Given the description of an element on the screen output the (x, y) to click on. 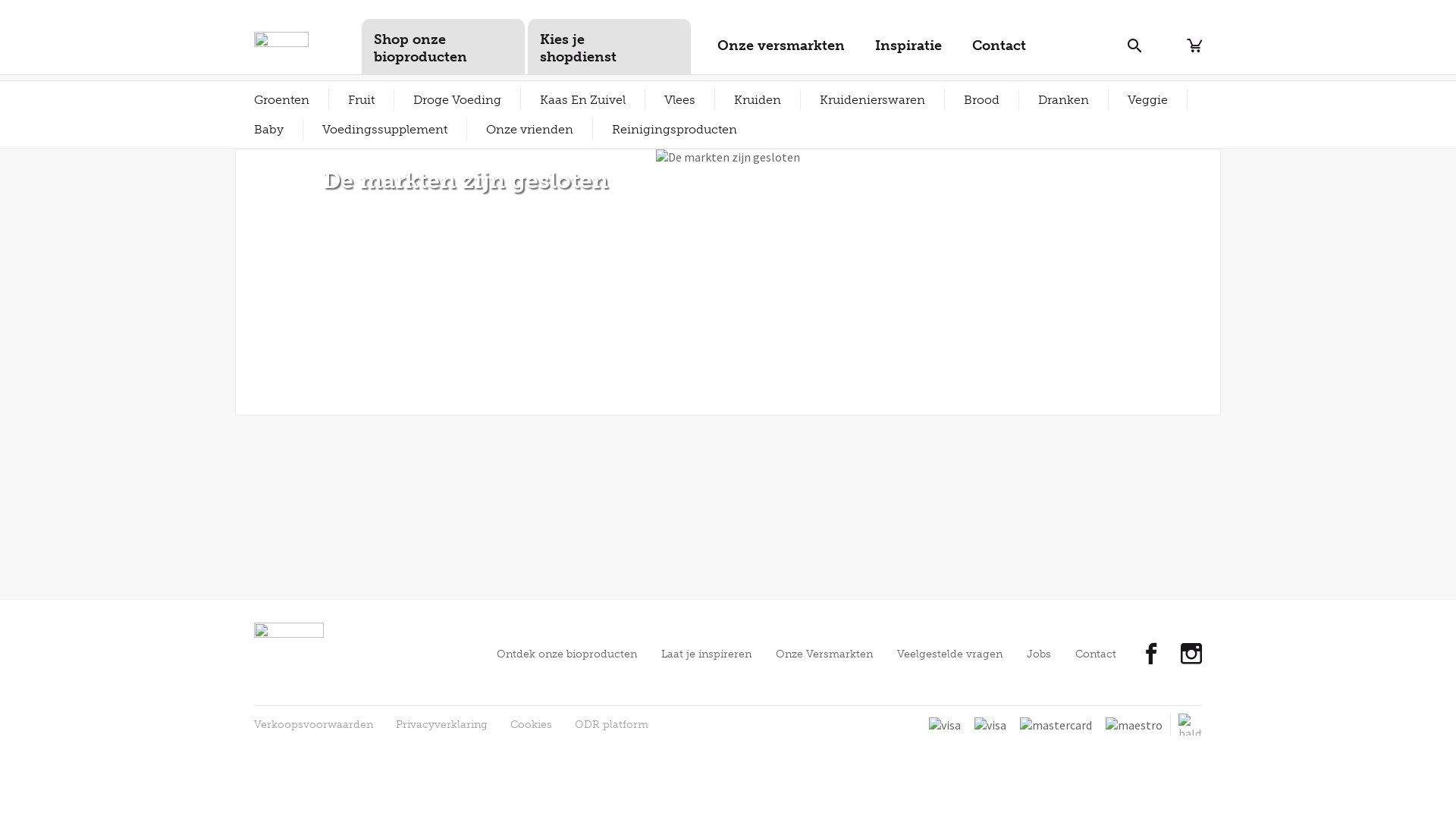
Onze vrienden Element type: text (529, 129)
Instagram Element type: hover (1190, 656)
Baby Element type: text (268, 129)
Onze Versmarkten Element type: text (823, 653)
Facebook Element type: hover (1150, 656)
Ontdek onze bioproducten Element type: text (566, 653)
Contact Element type: text (1095, 653)
Contact Element type: text (999, 51)
Kies je shopdienst Element type: text (608, 46)
Verkoopsvoorwaarden Element type: text (313, 724)
Groenten Element type: text (281, 99)
Kruidenierswaren Element type: text (872, 99)
Brood Element type: text (981, 99)
Droge Voeding Element type: text (457, 99)
Onze versmarkten Element type: text (780, 51)
Vlees Element type: text (679, 99)
baldwin Element type: hover (1189, 724)
Veggie Element type: text (1147, 99)
Veelgestelde vragen Element type: text (949, 653)
Laat je inspireren Element type: text (706, 653)
Dranken Element type: text (1063, 99)
Reinigingsproducten Element type: text (674, 129)
Privacyverklaring Element type: text (441, 724)
Cookies Element type: text (531, 724)
Jobs Element type: text (1038, 653)
Inspiratie Element type: text (908, 51)
Kaas En Zuivel Element type: text (582, 99)
Fruit Element type: text (361, 99)
Voedingssupplement Element type: text (384, 129)
Shop onze bioproducten Element type: text (442, 46)
ODR platform Element type: text (611, 724)
Kruiden Element type: text (757, 99)
